Given the description of an element on the screen output the (x, y) to click on. 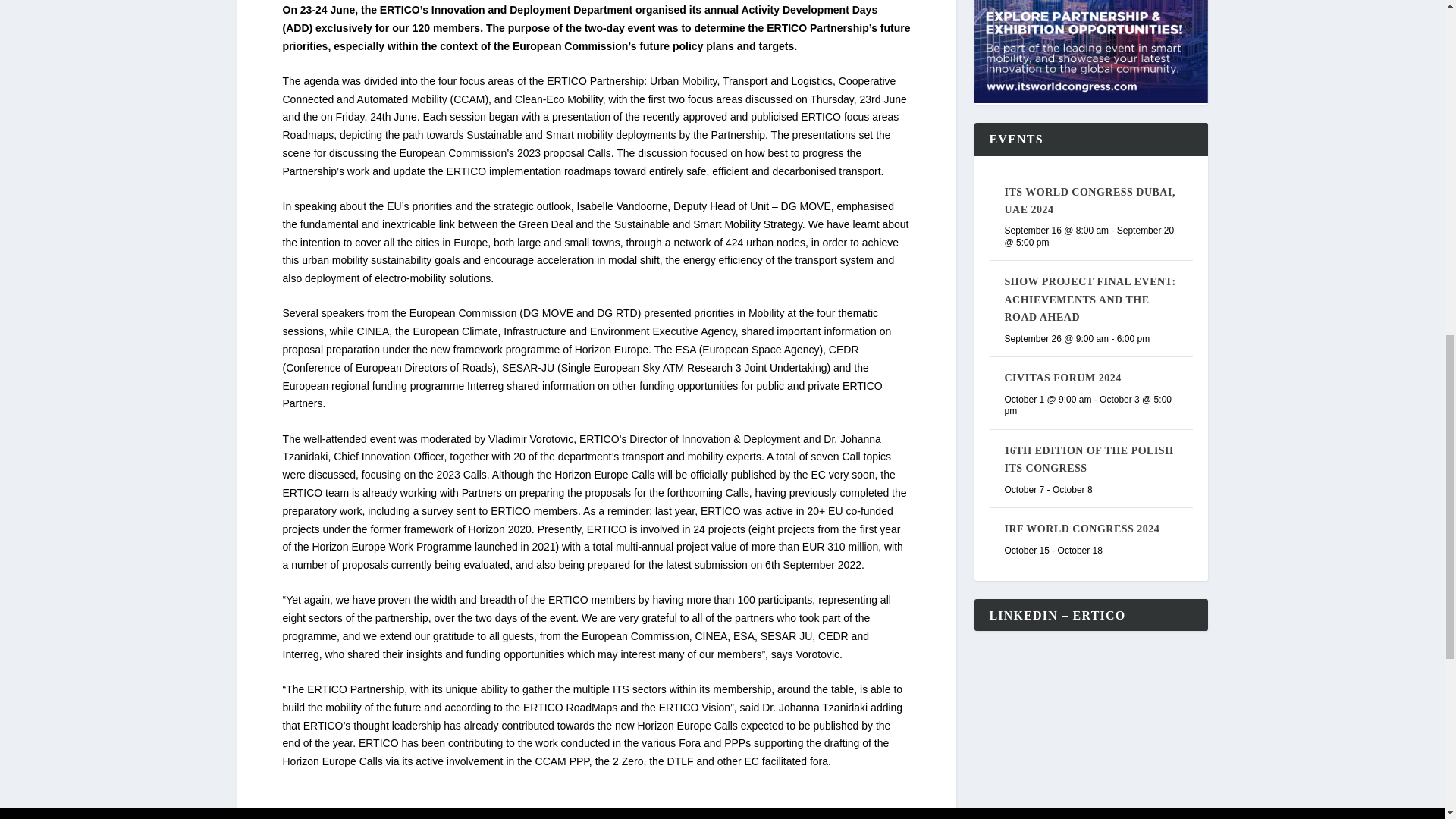
SHOW PROJECT FINAL EVENT: ACHIEVEMENTS AND THE ROAD AHEAD (1089, 299)
ITS WORLD CONGRESS DUBAI, UAE 2024 (1089, 200)
CIVITAS FORUM 2024 (1062, 378)
IRF WORLD CONGRESS 2024 (1081, 528)
16TH EDITION OF THE POLISH ITS CONGRESS (1088, 459)
